Given the description of an element on the screen output the (x, y) to click on. 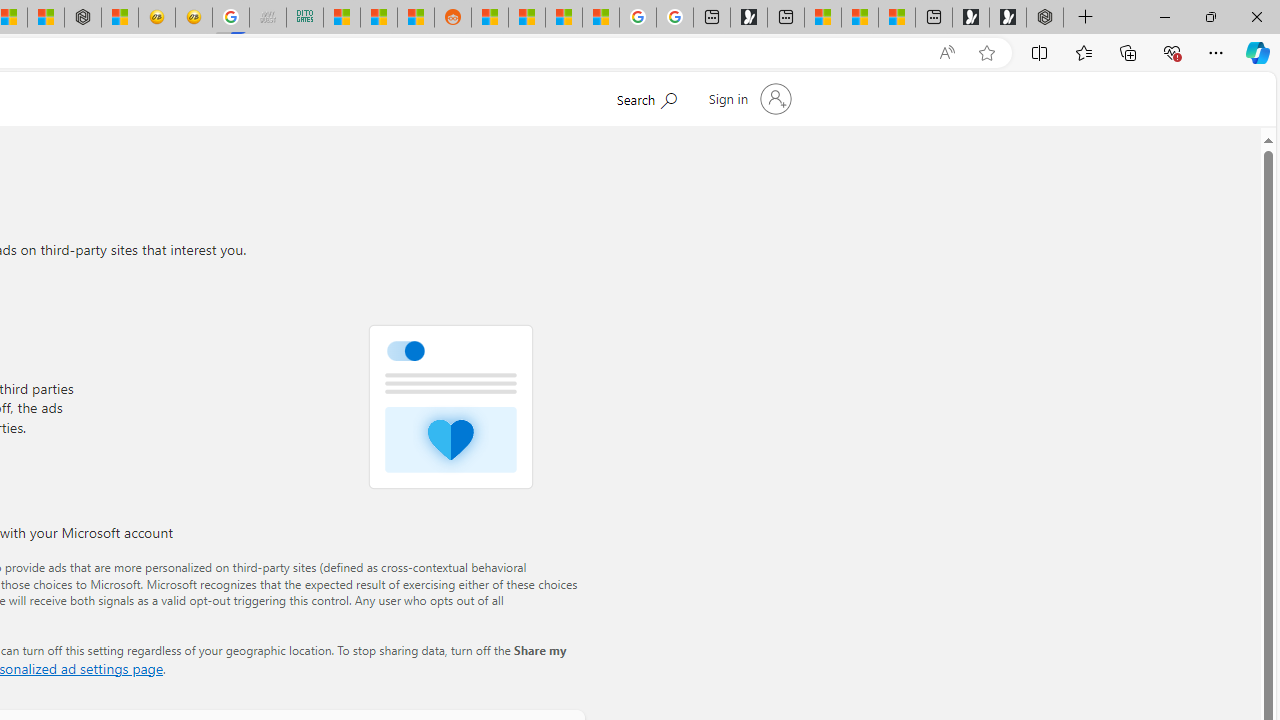
Nordace - Nordace Siena Is Not An Ordinary Backpack (1044, 17)
R******* | Trusted Community Engagement and Contributions (490, 17)
DITOGAMES AG Imprint (304, 17)
These 3 Stocks Pay You More Than 5% to Own Them (897, 17)
Play Free Online Games | Games from Microsoft Start (1007, 17)
